Given the description of an element on the screen output the (x, y) to click on. 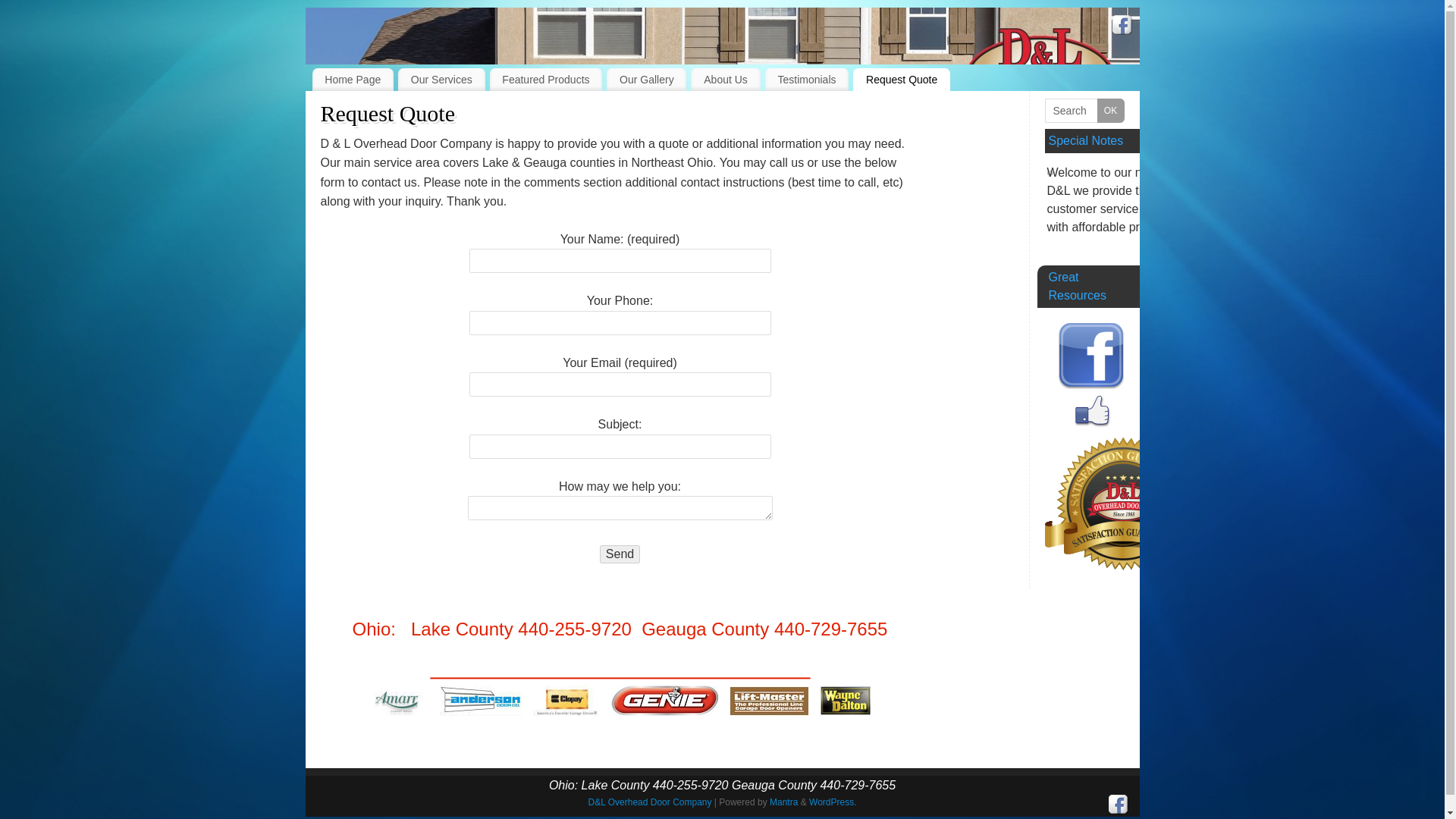
Semantic Personal Publishing Platform (832, 801)
Our Gallery (646, 79)
Mantra Theme by Cryout Creations (783, 801)
OK (1110, 110)
Home Page (353, 79)
Testimonials (806, 79)
Search (1084, 110)
Mantra (783, 801)
OK (1110, 110)
About Us (725, 79)
